Given the description of an element on the screen output the (x, y) to click on. 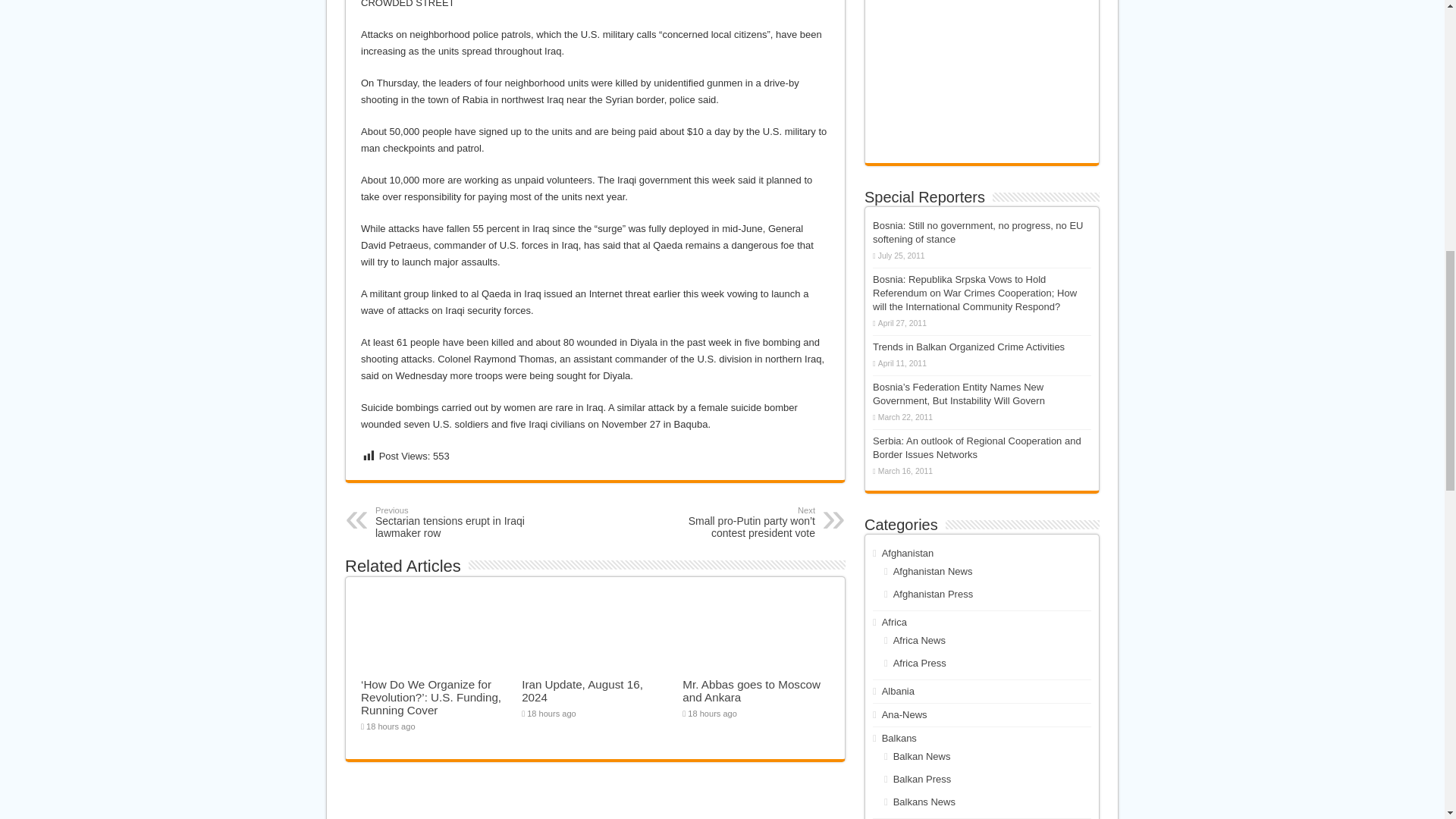
Mr. Abbas goes to Moscow and Ankara (751, 690)
Iran Update, August 16, 2024 (453, 522)
Scroll To Top (582, 690)
